Given the description of an element on the screen output the (x, y) to click on. 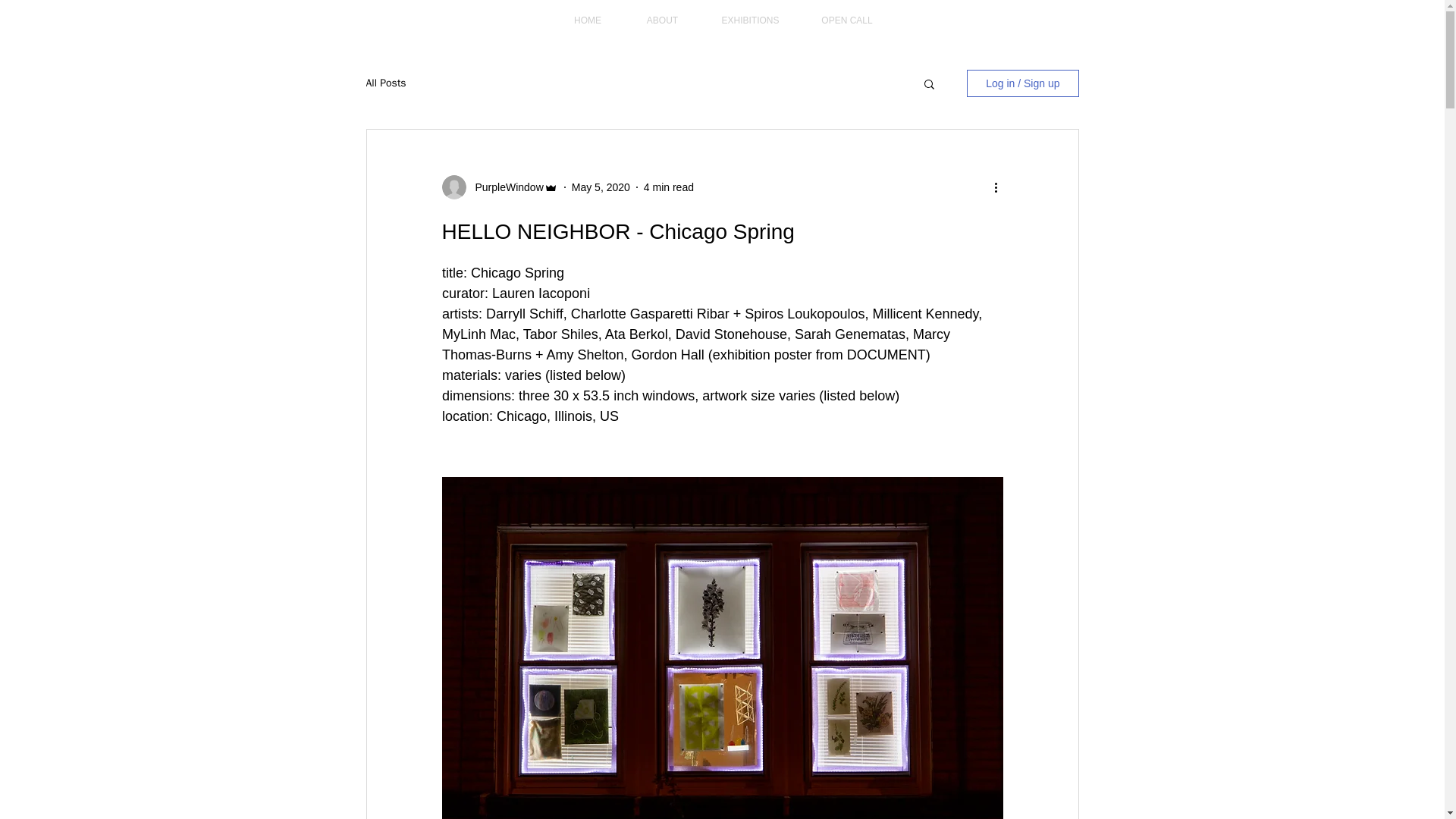
ABOUT (662, 20)
OPEN CALL (846, 20)
HOME (587, 20)
PurpleWindow (504, 186)
May 5, 2020 (601, 186)
All Posts (385, 83)
EXHIBITIONS (750, 20)
4 min read (668, 186)
